Given the description of an element on the screen output the (x, y) to click on. 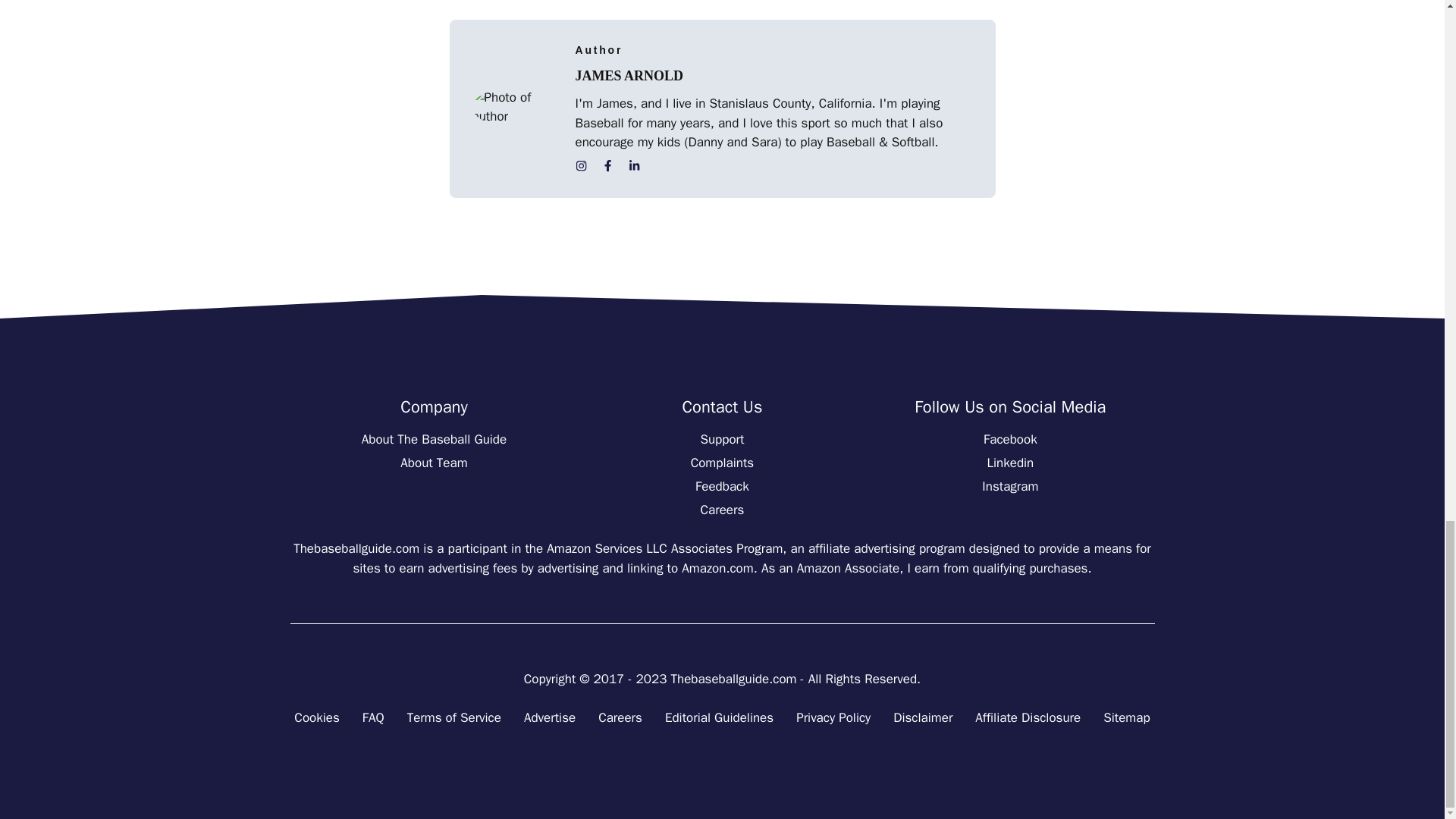
Feedback (722, 486)
Facebook (1010, 439)
Linkedin (1010, 462)
Sitemap (1126, 718)
About Team (433, 462)
Terms of Service (453, 718)
Careers (722, 509)
Careers (620, 718)
Cookies (316, 718)
Editorial Guidelines (719, 718)
